Given the description of an element on the screen output the (x, y) to click on. 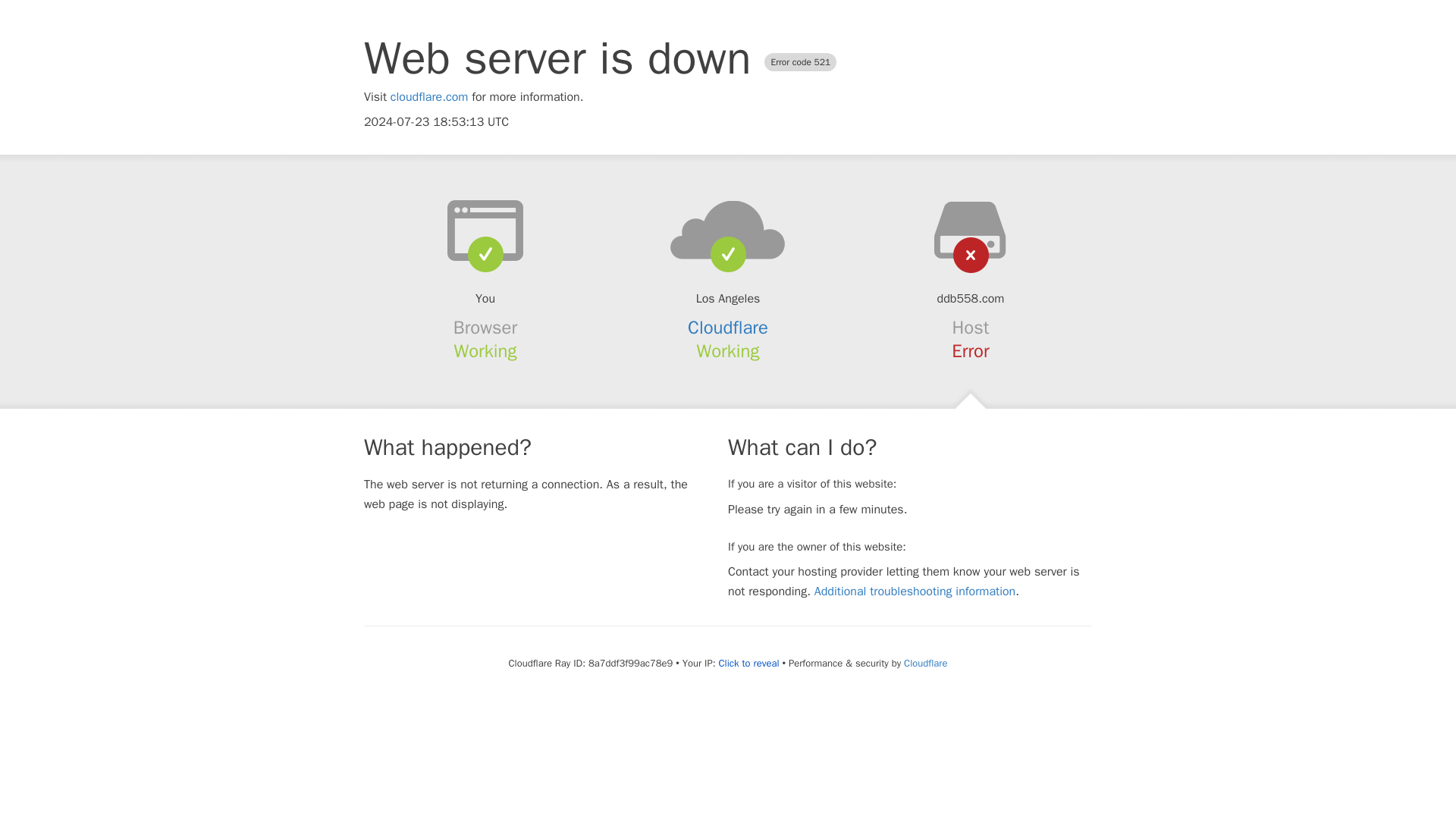
cloudflare.com (429, 96)
Click to reveal (748, 663)
Additional troubleshooting information (913, 590)
Cloudflare (727, 327)
Cloudflare (925, 662)
